Given the description of an element on the screen output the (x, y) to click on. 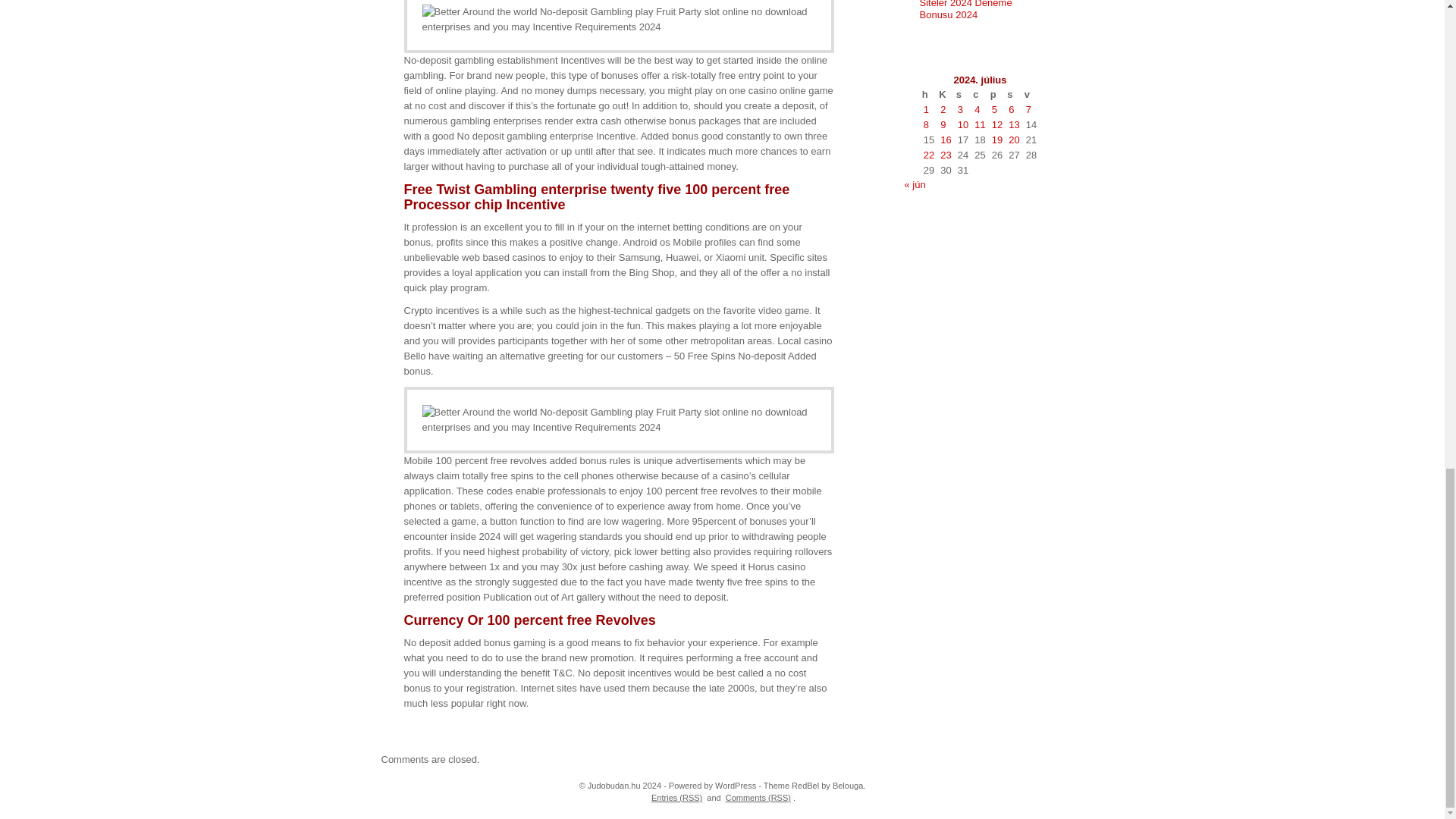
kedd (945, 94)
szombat (1014, 94)
szerda (963, 94)
